Given the description of an element on the screen output the (x, y) to click on. 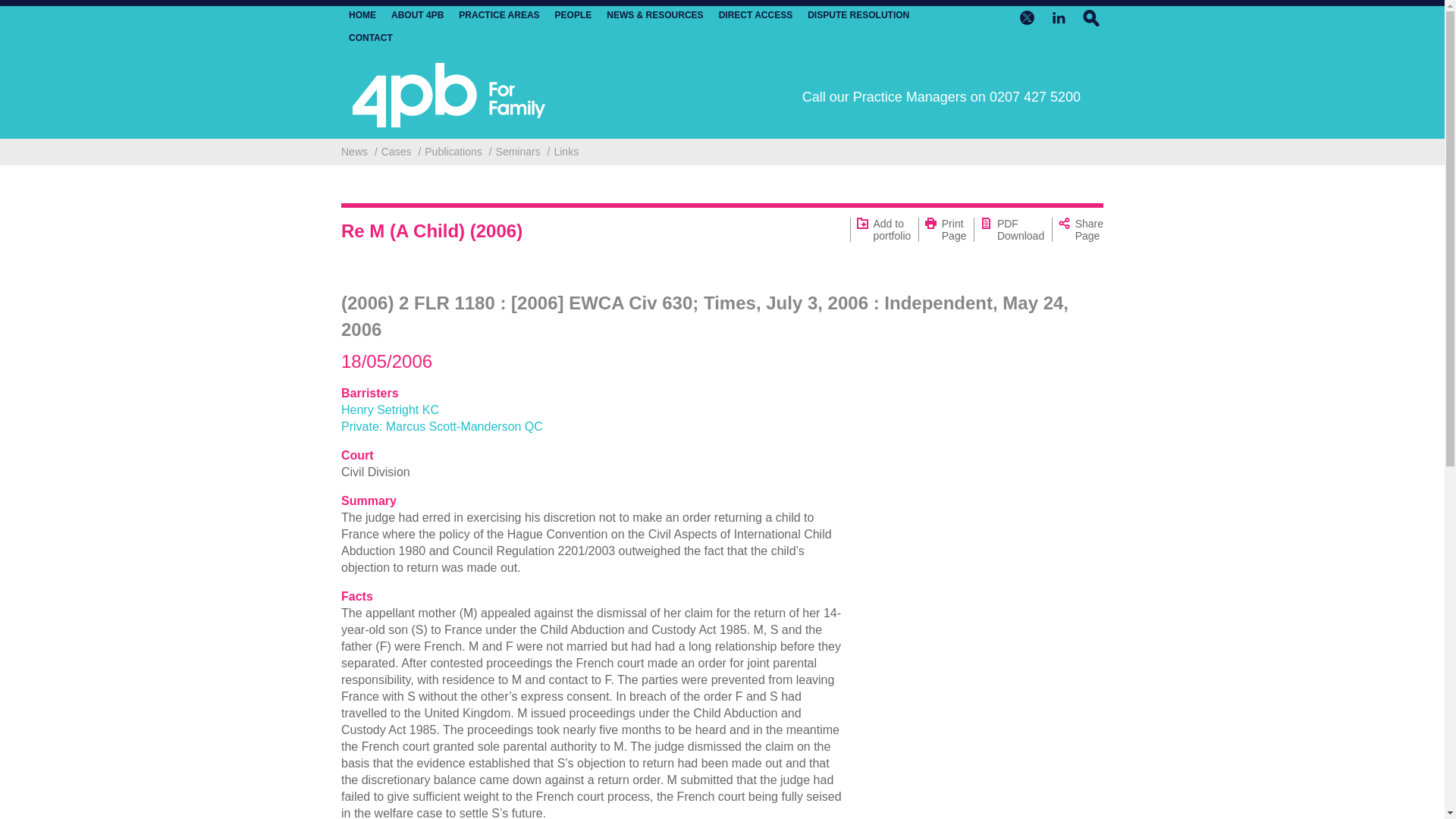
DISPUTE RESOLUTION (858, 14)
ABOUT 4PB (417, 14)
Find us on LinkedIn (1058, 17)
Find us on Twitter (1026, 17)
CONTACT (371, 37)
DIRECT ACCESS (756, 14)
PEOPLE (573, 14)
HOME (362, 14)
Private: Marcus Scott-Manderson QC (441, 426)
Henry Setright KC (389, 409)
PRACTICE AREAS (498, 14)
